Given the description of an element on the screen output the (x, y) to click on. 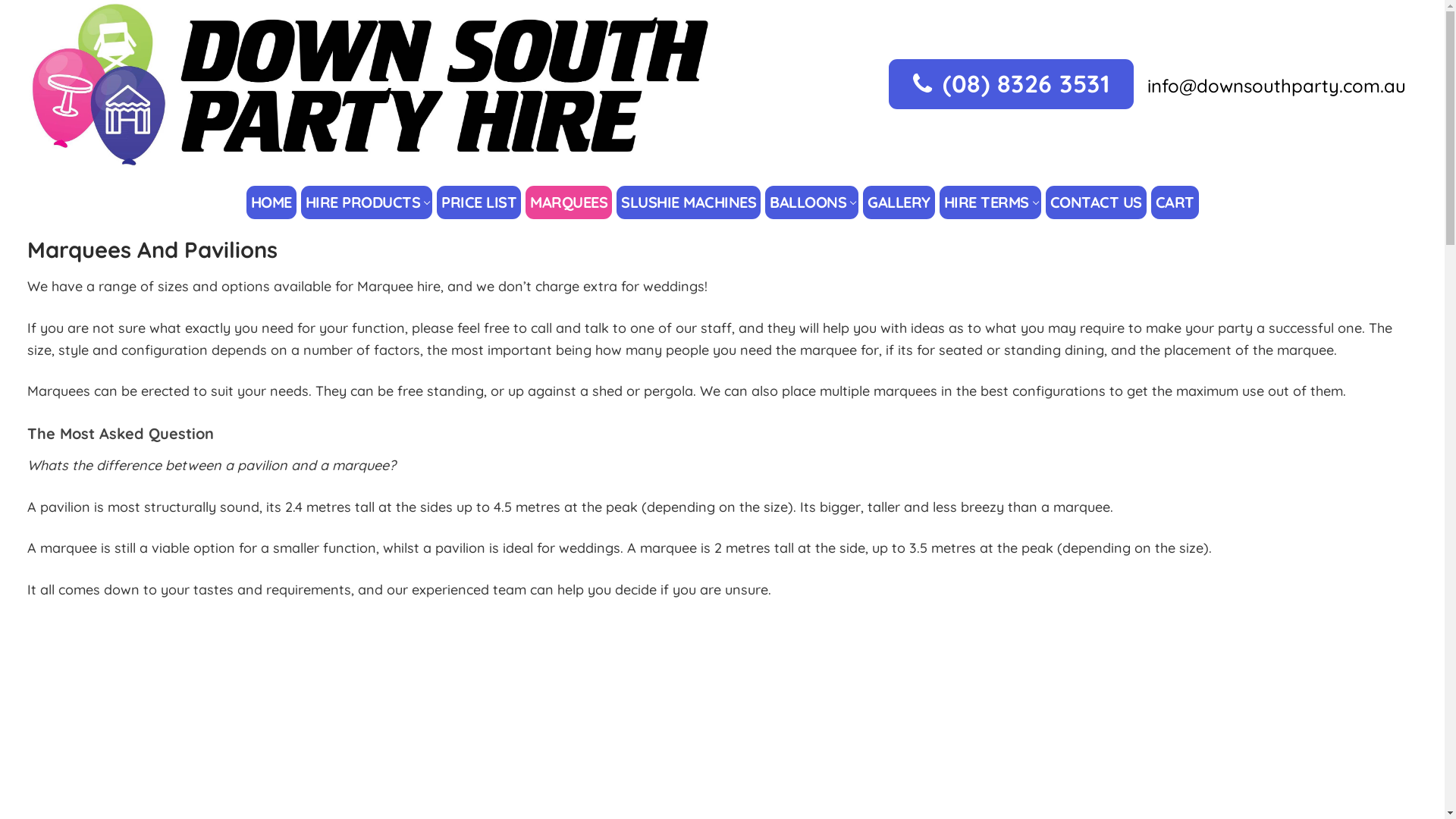
SLUSHIE MACHINES Element type: text (688, 202)
info@downsouthparty.com.au Element type: text (1276, 85)
CART Element type: text (1174, 202)
HOME Element type: text (271, 202)
BALLOONS
  Element type: text (811, 202)
HIRE TERMS
  Element type: text (990, 202)
GALLERY Element type: text (898, 202)
(08) 8326 3531 Element type: text (1010, 84)
PRICE LIST Element type: text (478, 202)
MARQUEES Element type: text (568, 202)
CONTACT US Element type: text (1095, 202)
HIRE PRODUCTS
  Element type: text (366, 202)
